Given the description of an element on the screen output the (x, y) to click on. 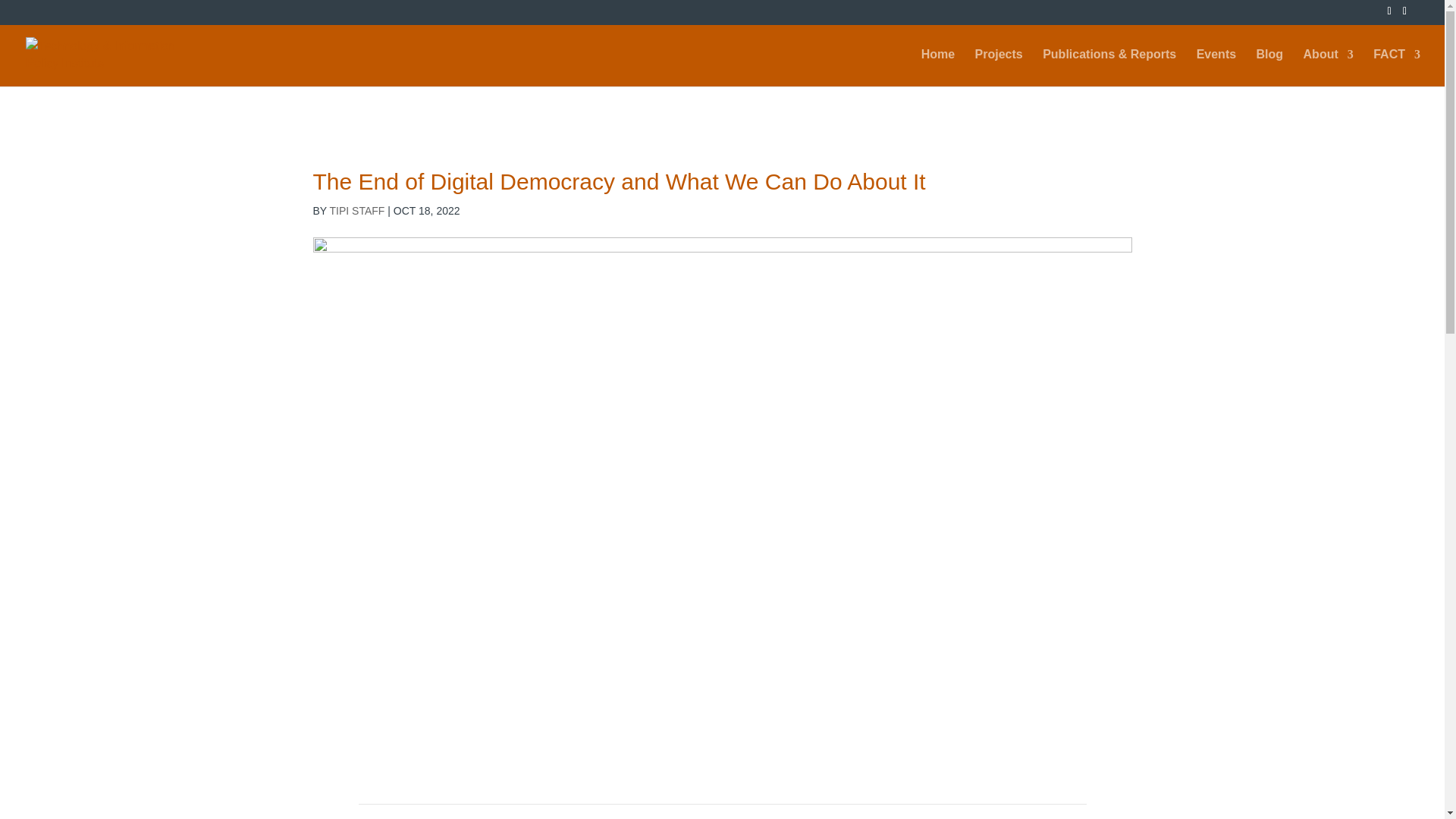
Posts by TIPI Staff (357, 210)
Blog (1270, 67)
Home (938, 67)
About (1328, 67)
TIPI STAFF (357, 210)
Projects (999, 67)
Events (1216, 67)
FACT (1397, 67)
